Given the description of an element on the screen output the (x, y) to click on. 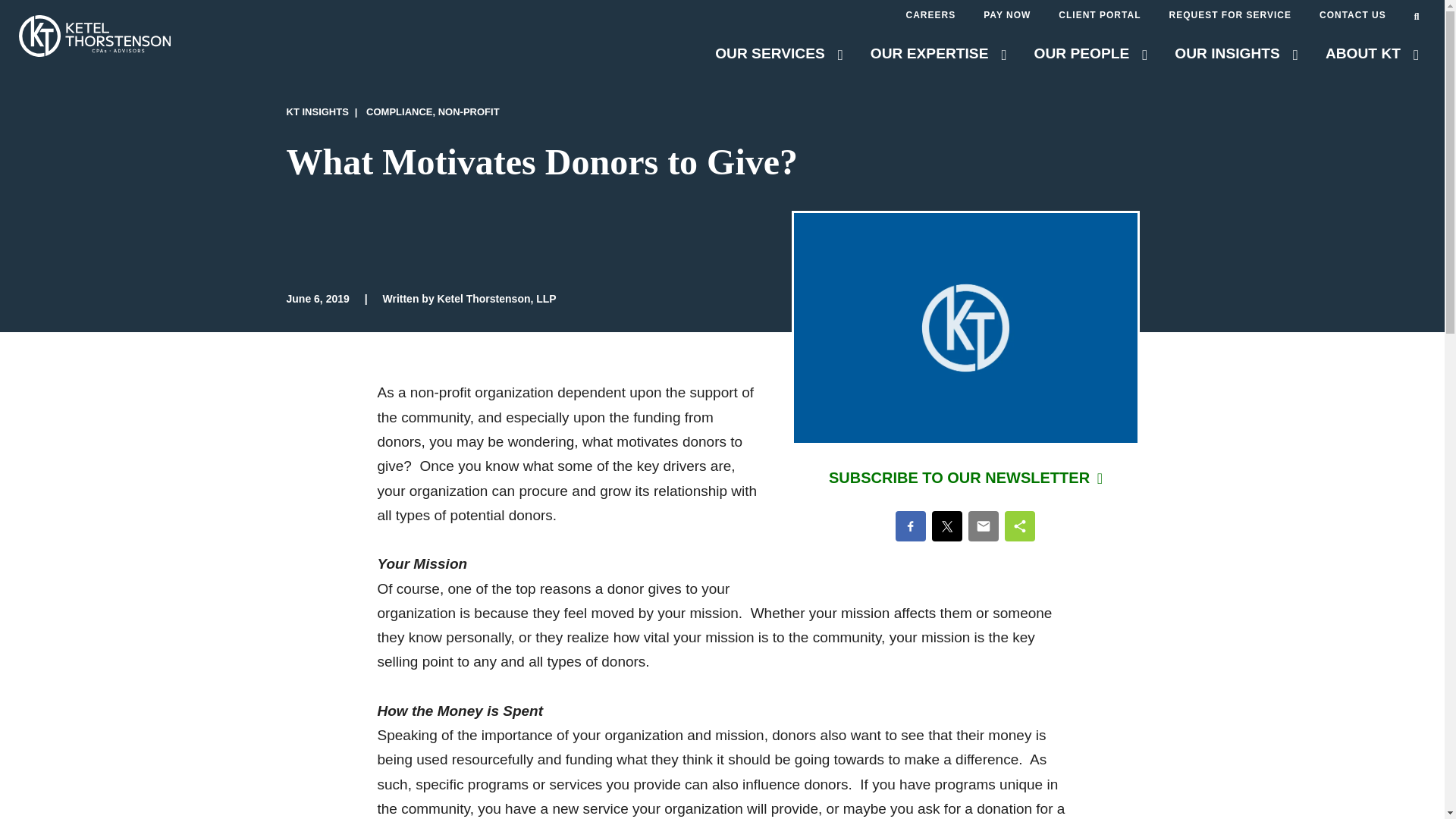
OUR INSIGHTS (1236, 55)
Ketel Thorstenson logo (94, 52)
OUR PEOPLE (1090, 55)
REQUEST FOR SERVICE (1229, 15)
Search (1419, 16)
OUR EXPERTISE (938, 55)
CLIENT PORTAL (1099, 15)
PAY NOW (1007, 15)
ABOUT KT (1371, 55)
OUR SERVICES (778, 55)
